Given the description of an element on the screen output the (x, y) to click on. 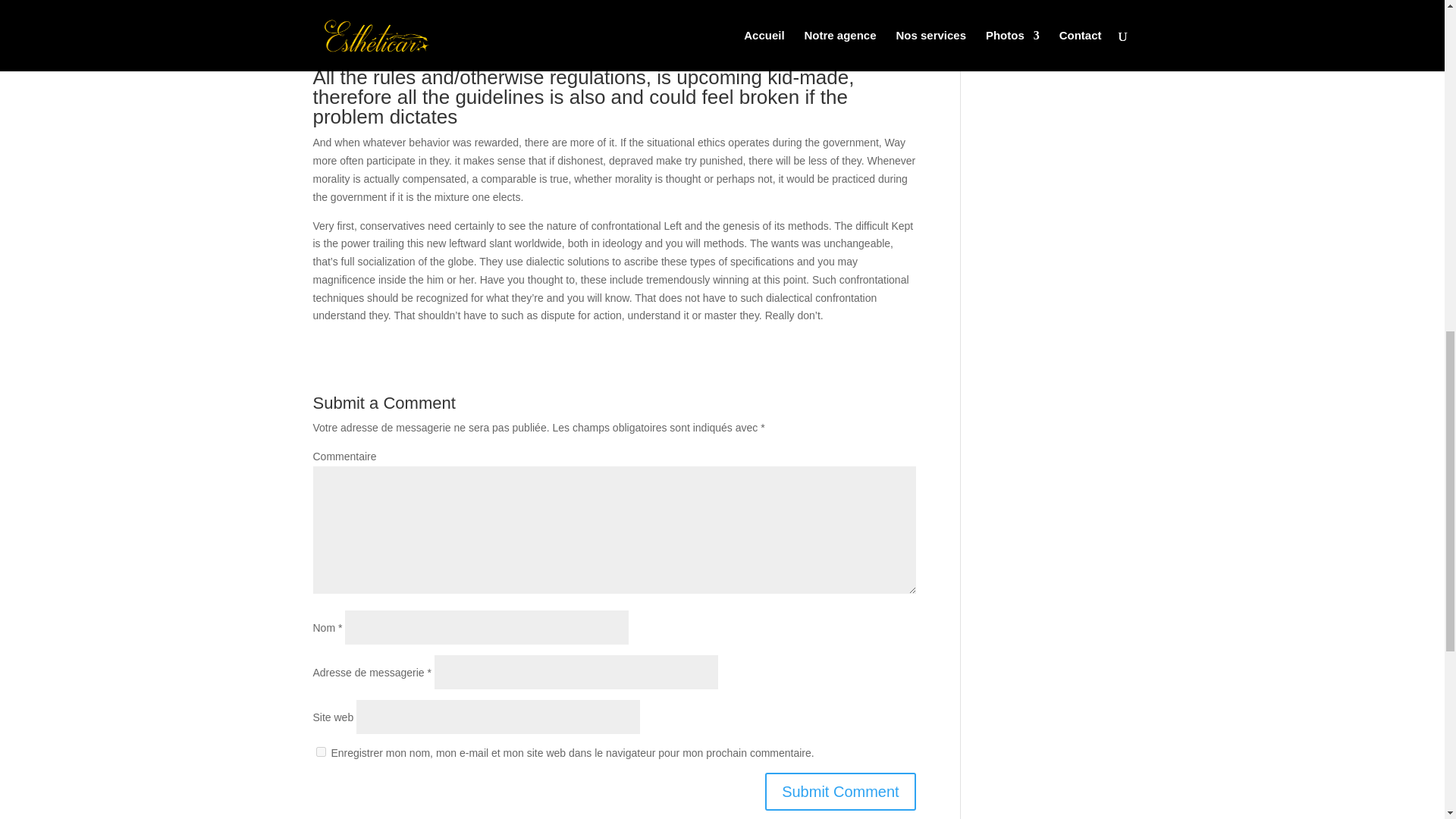
Submit Comment (840, 791)
yes (319, 751)
Submit Comment (840, 791)
